Given the description of an element on the screen output the (x, y) to click on. 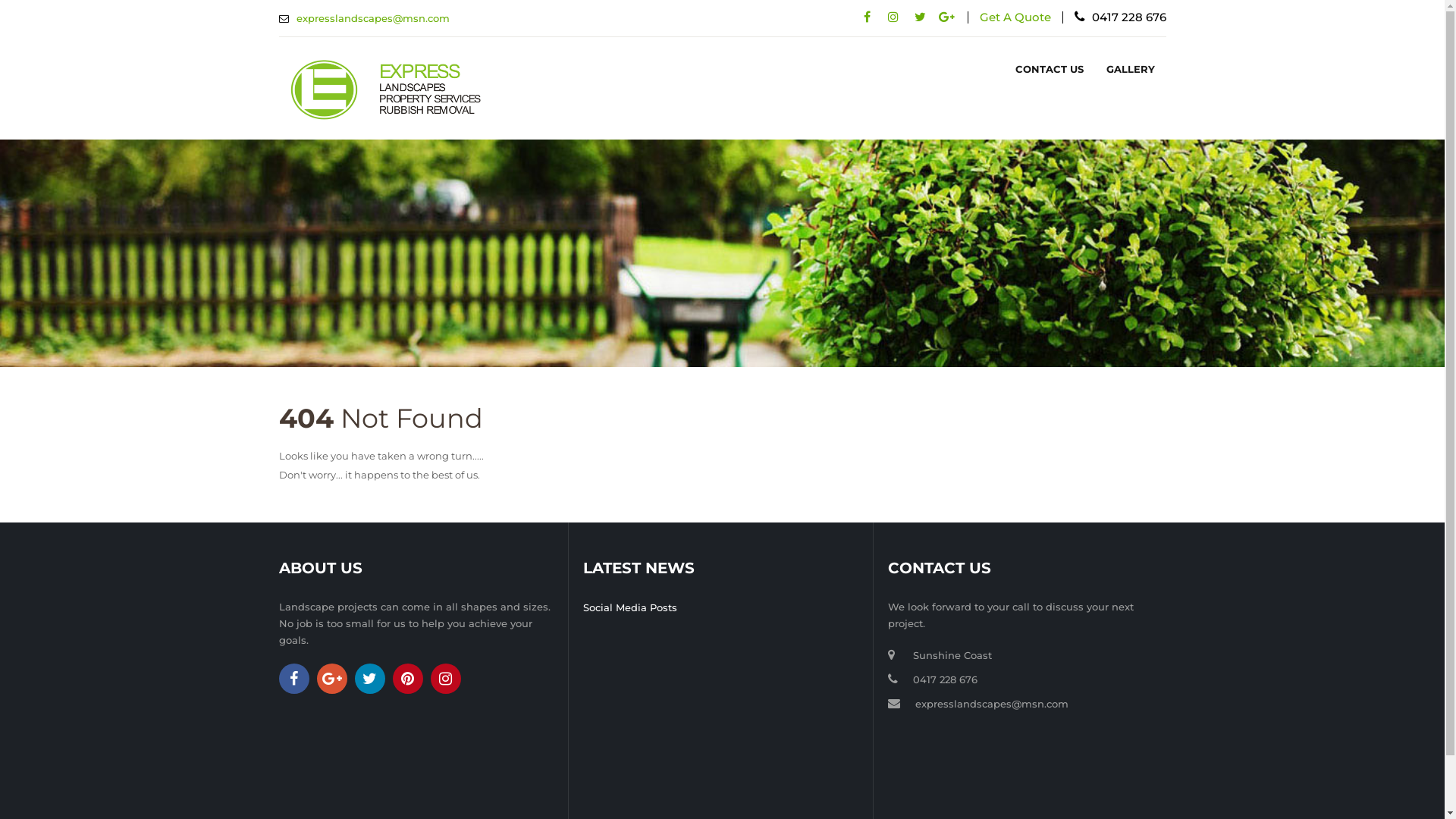
instagram Element type: hover (892, 16)
GALLERY Element type: text (1130, 69)
facebook Element type: hover (866, 16)
google-plus Element type: hover (331, 678)
CONTACT US Element type: text (1049, 69)
expresslandscapes@msn.com Element type: text (371, 18)
twitter Element type: hover (919, 16)
pinterest Element type: hover (407, 678)
facebook Element type: hover (294, 678)
instagram Element type: hover (445, 678)
Social Media Posts Element type: text (630, 607)
google-plus Element type: hover (945, 16)
Get A Quote Element type: text (1015, 16)
twitter Element type: hover (369, 678)
expresslandscapes@msn.com Element type: text (991, 703)
